Given the description of an element on the screen output the (x, y) to click on. 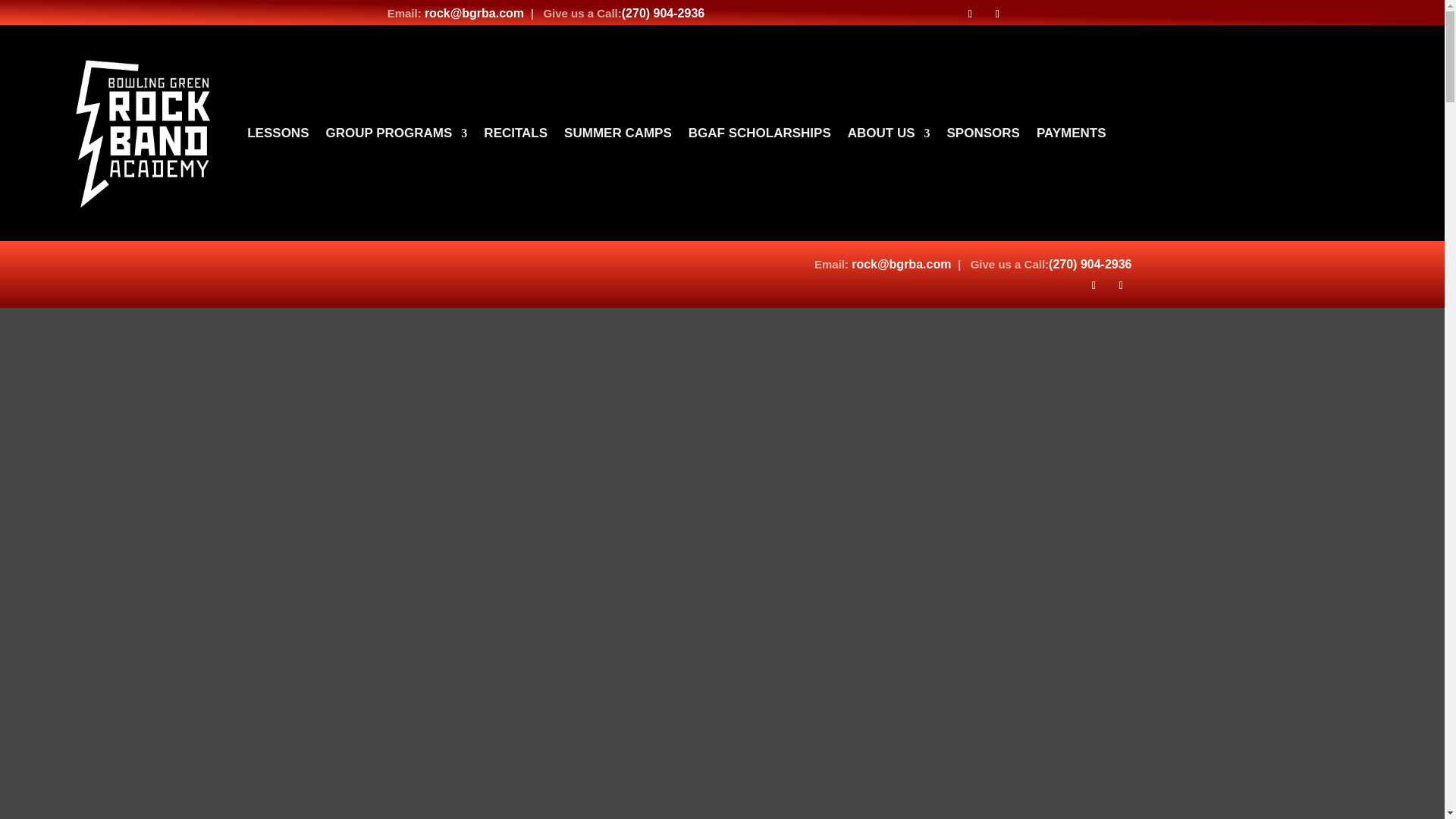
Follow on Facebook (969, 14)
Follow on Instagram (1120, 285)
GROUP PROGRAMS (395, 133)
BGAF SCHOLARSHIPS (759, 133)
Follow on Facebook (1093, 285)
Follow on Instagram (997, 14)
